Given the description of an element on the screen output the (x, y) to click on. 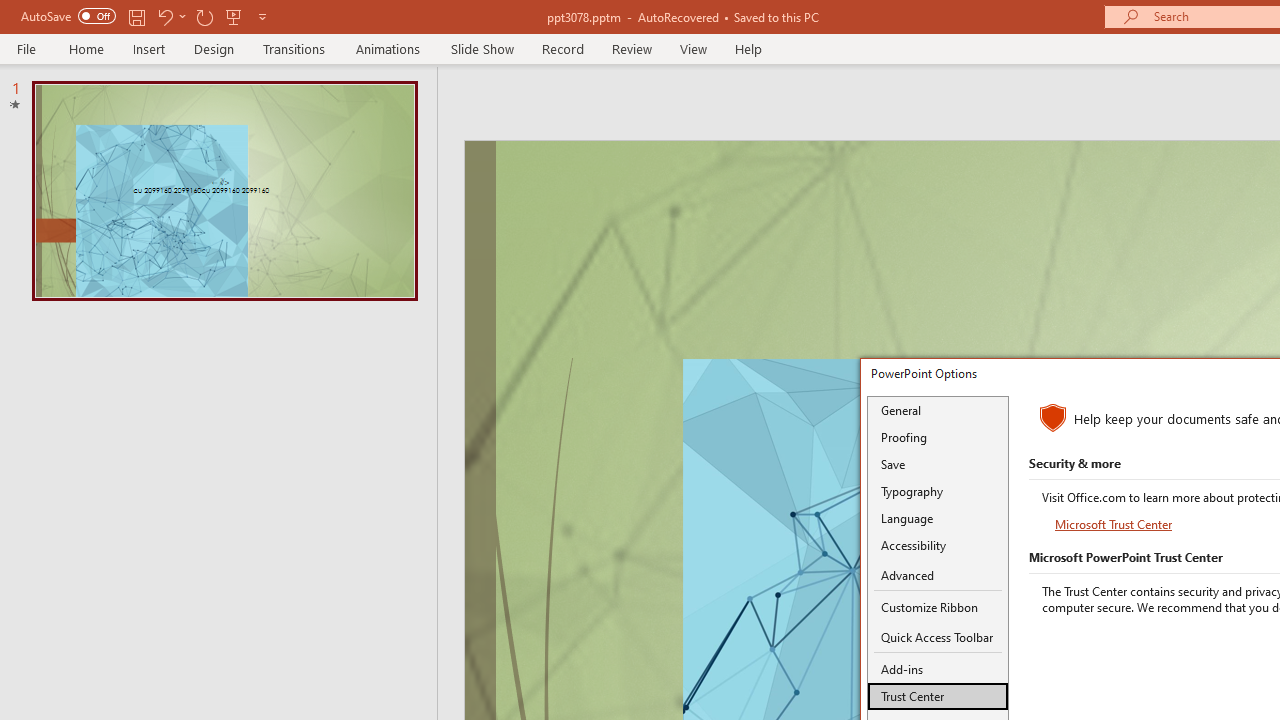
Trust Center (937, 696)
Proofing (937, 437)
Add-ins (937, 669)
General (937, 410)
Language (937, 518)
Microsoft Trust Center (1115, 524)
